Given the description of an element on the screen output the (x, y) to click on. 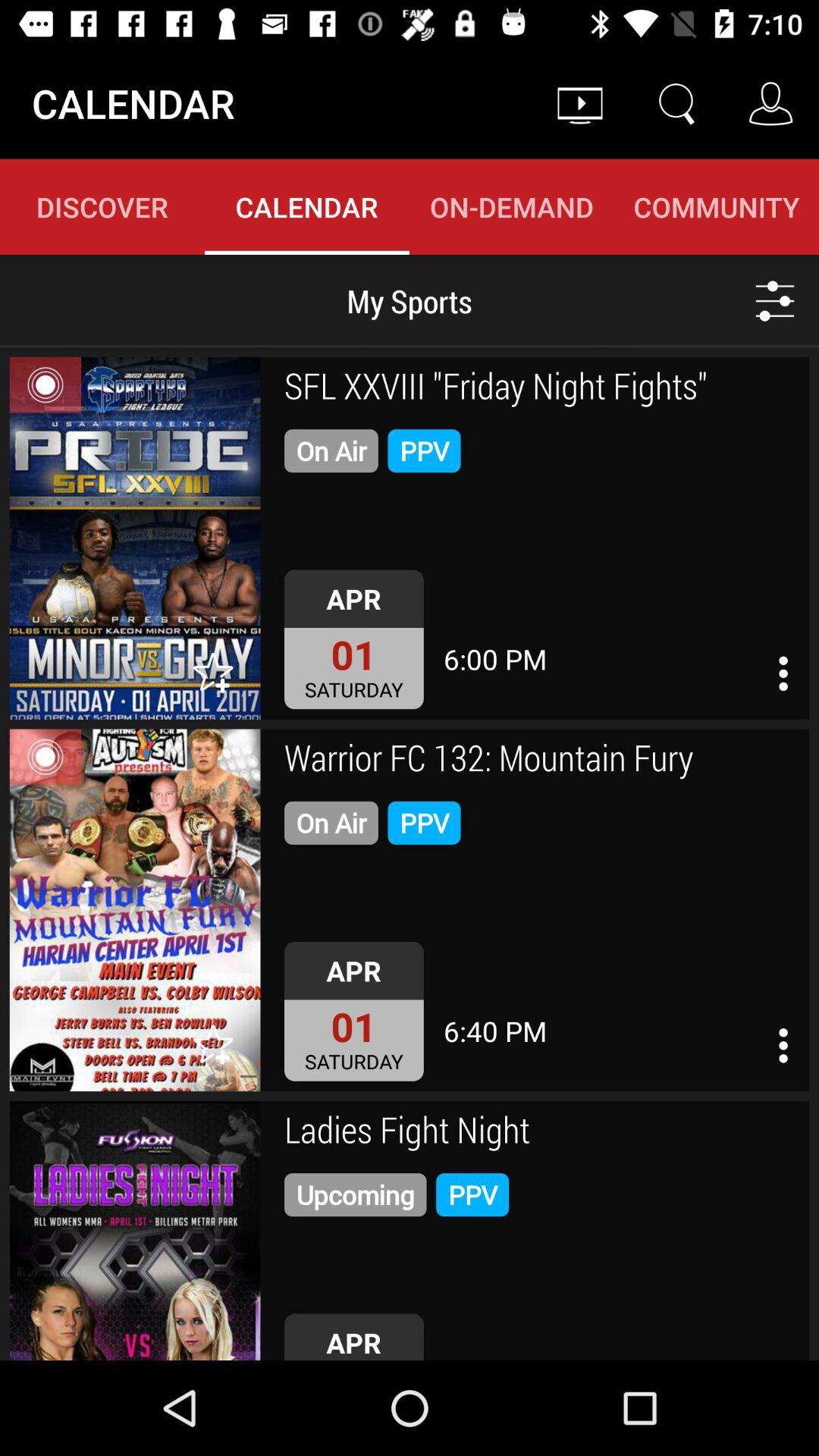
opens up event info (134, 910)
